Given the description of an element on the screen output the (x, y) to click on. 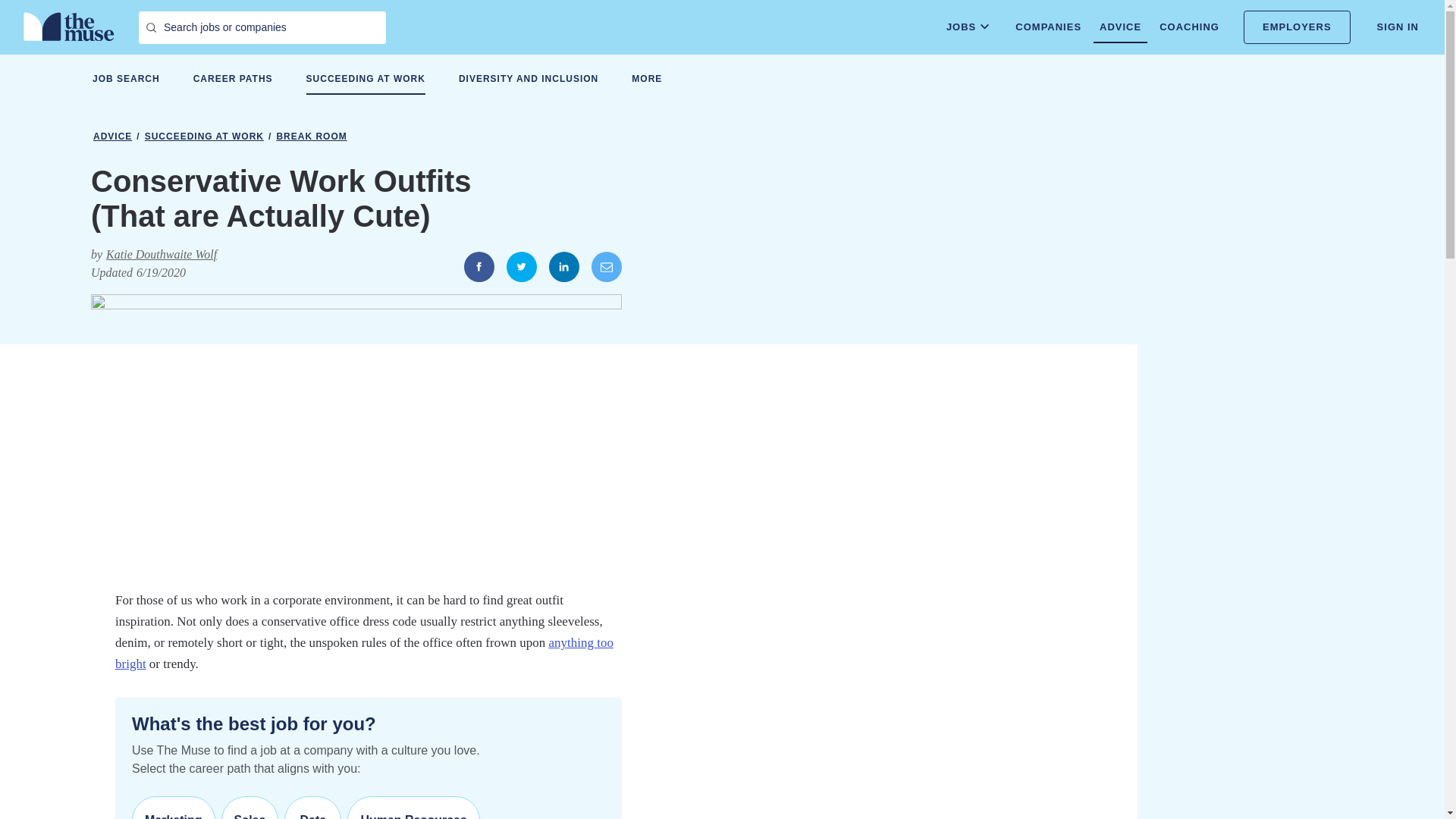
4 Ways to Brighten Up Your Winter Wardrobe (363, 653)
COACHING (1189, 27)
SIGN IN (1398, 27)
ADVICE (1120, 27)
EMPLOYERS (1297, 27)
COMPANIES (1048, 27)
